Given the description of an element on the screen output the (x, y) to click on. 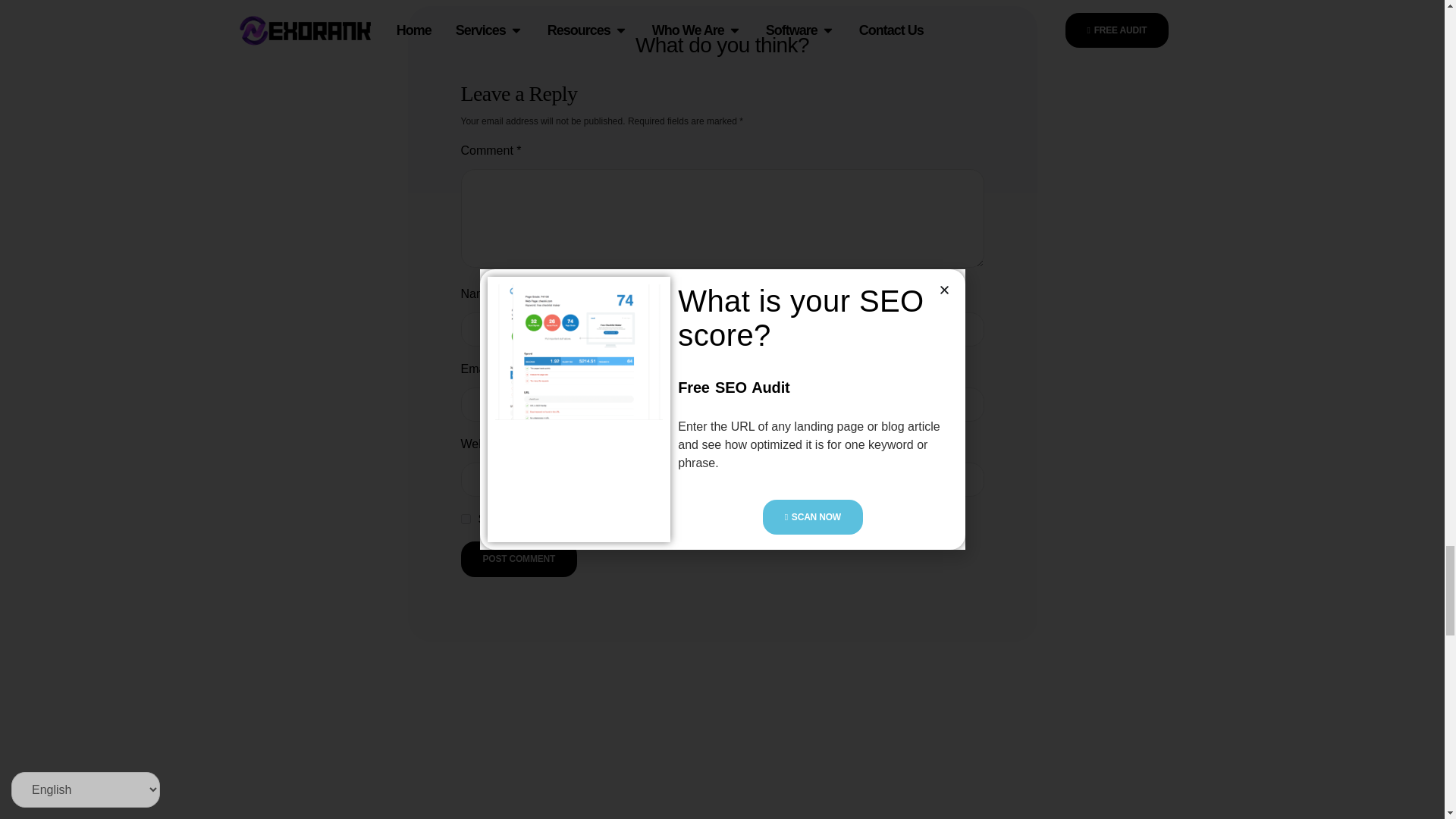
yes (465, 519)
Post Comment (519, 558)
